Given the description of an element on the screen output the (x, y) to click on. 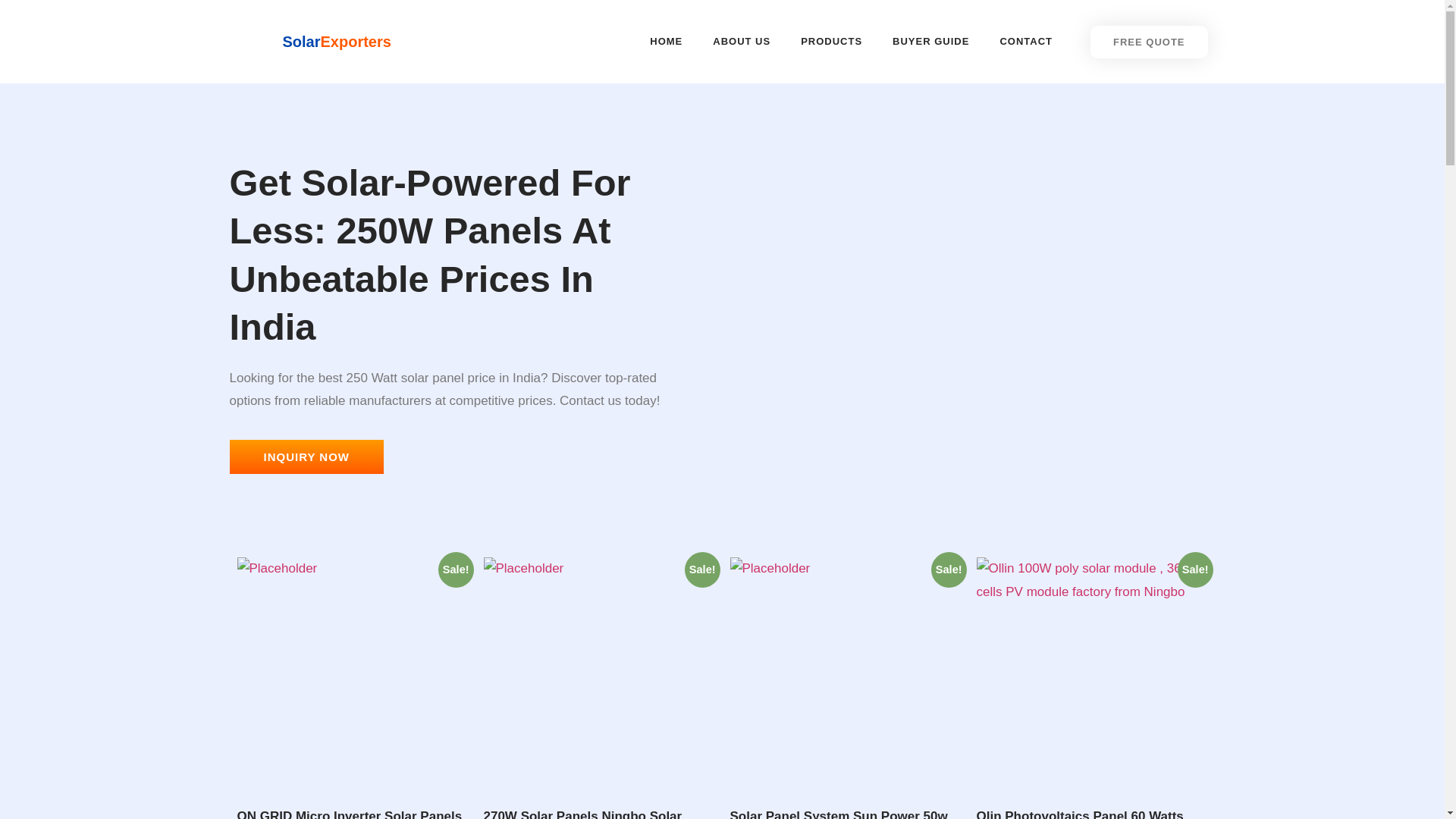
woocommerce-placeholder (598, 672)
INQUIRY NOW (306, 456)
Exporters (355, 41)
FREE QUOTE (1149, 41)
woocommerce-placeholder (844, 672)
CONTACT (1025, 41)
HOME (665, 41)
PRODUCTS (831, 41)
BUYER GUIDE (930, 41)
woocommerce-placeholder (351, 672)
